Given the description of an element on the screen output the (x, y) to click on. 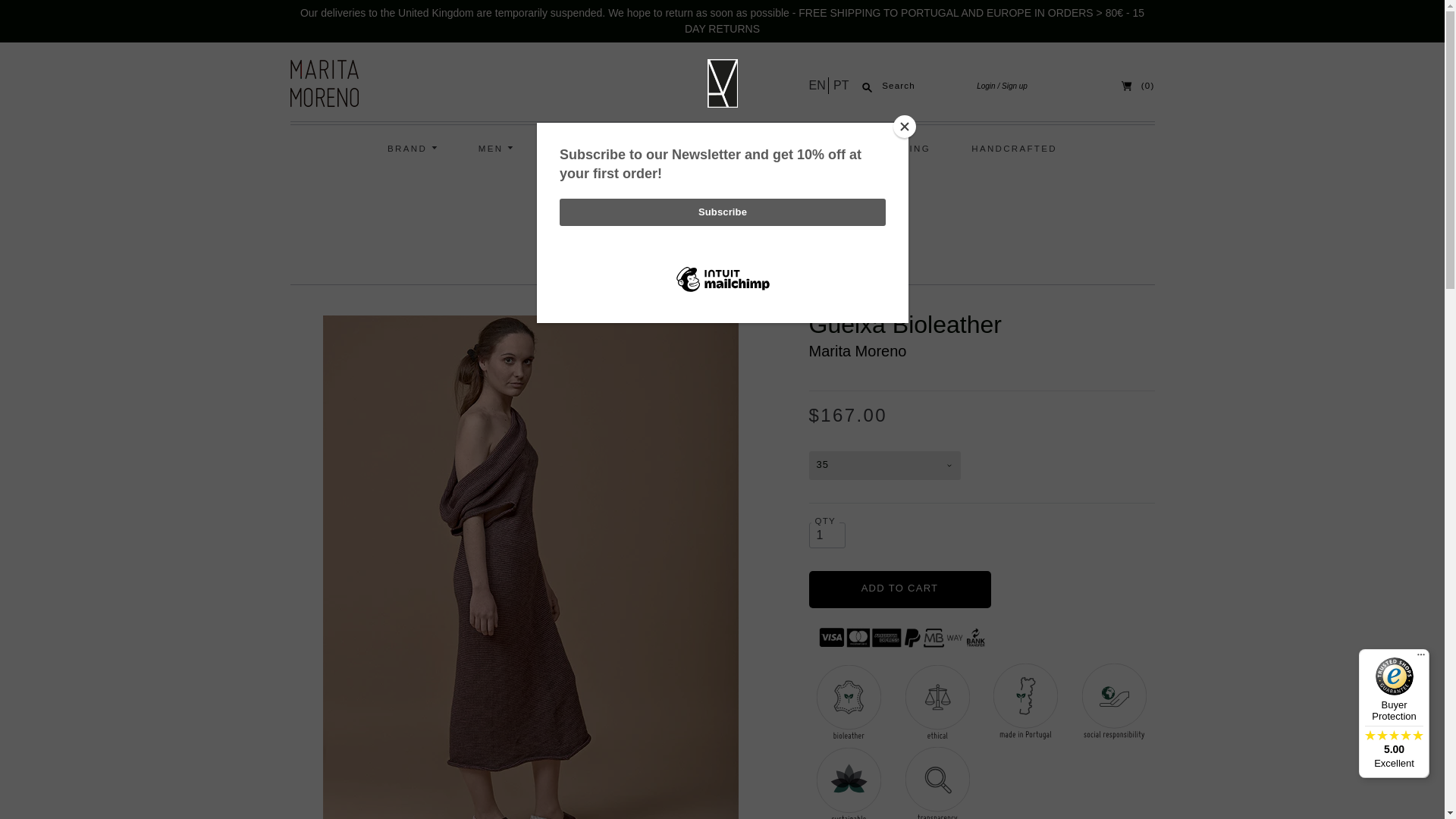
Sustainable (848, 783)
Transparency (937, 782)
Sign up (1011, 85)
Login (985, 85)
1 (826, 534)
EN (818, 85)
PT (838, 85)
Marita Moreno (856, 351)
Add to Cart (899, 589)
